Given the description of an element on the screen output the (x, y) to click on. 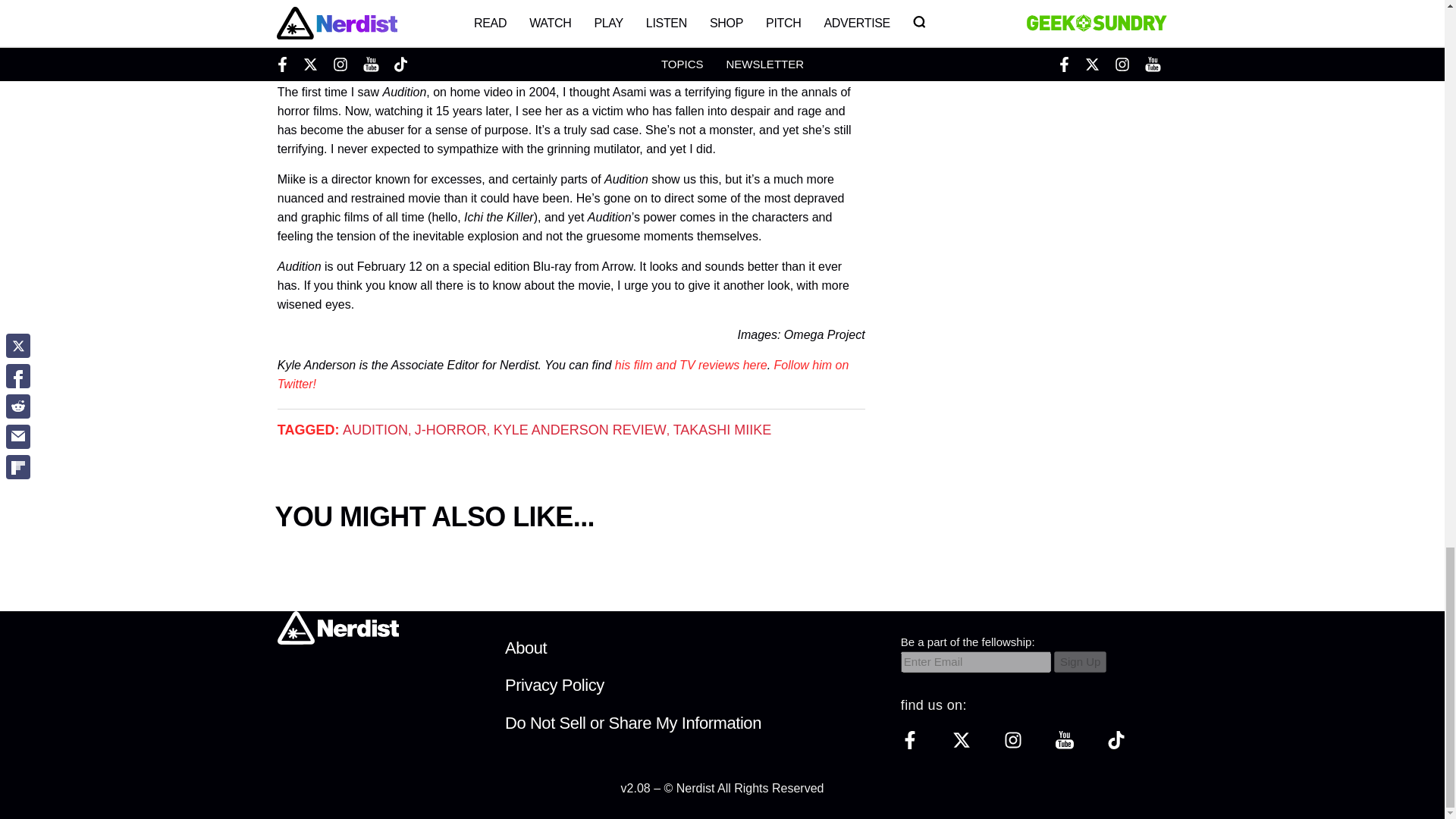
Do Not Sell or Share My Information (633, 722)
Privacy Policy (554, 684)
J-HORROR (450, 429)
his film and TV reviews here (690, 364)
TAKASHI MIIKE (721, 429)
AUDITION (374, 429)
Follow him on Twitter! (563, 374)
About (526, 647)
Sign Up (1080, 662)
KYLE ANDERSON REVIEW (579, 429)
